Given the description of an element on the screen output the (x, y) to click on. 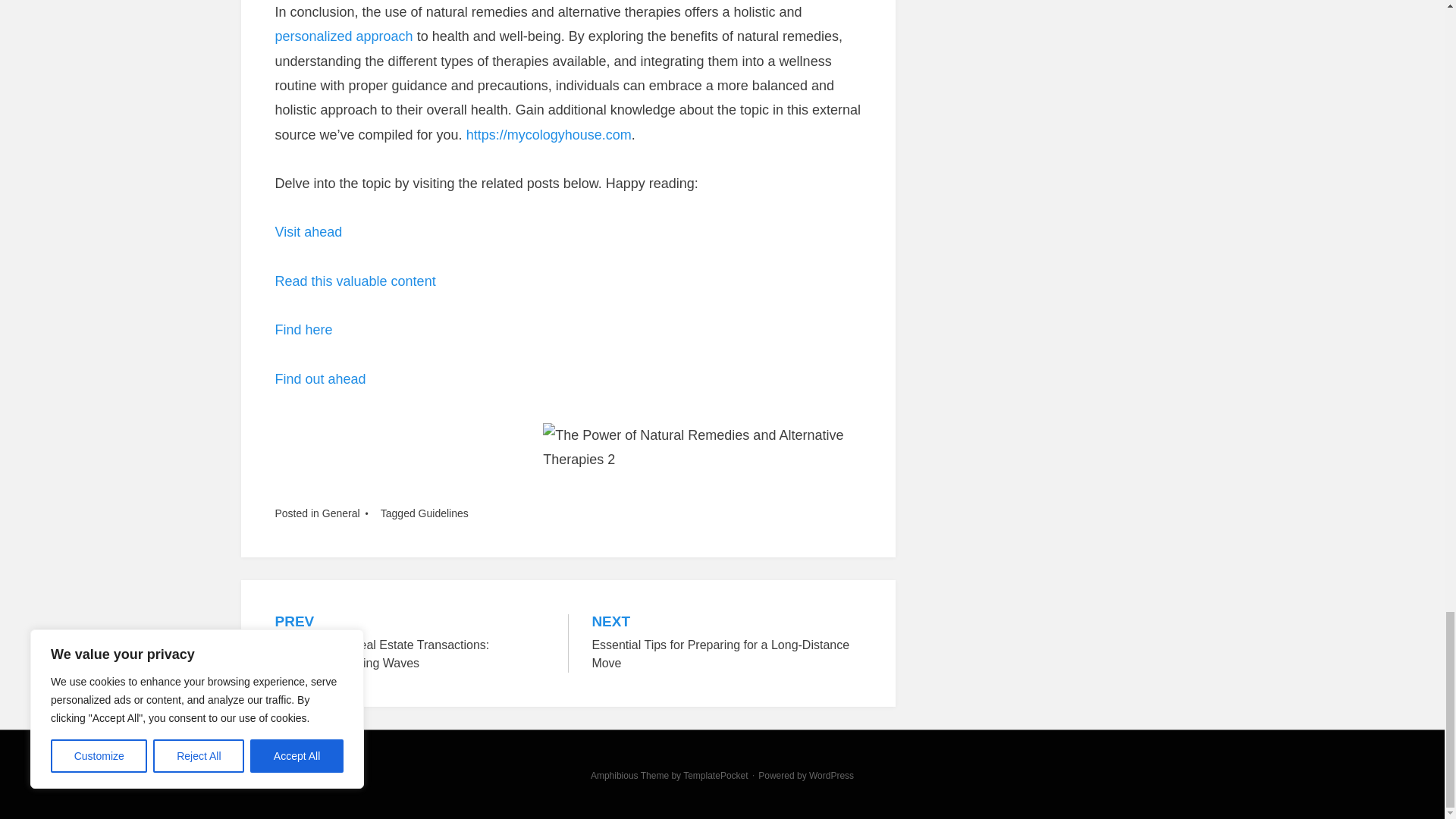
WordPress (831, 775)
Read this valuable content (355, 281)
TemplatePocket (715, 775)
Find out ahead (320, 378)
personalized approach (343, 36)
Guidelines (726, 643)
Find here (443, 512)
Visit ahead (303, 329)
General (308, 231)
